Given the description of an element on the screen output the (x, y) to click on. 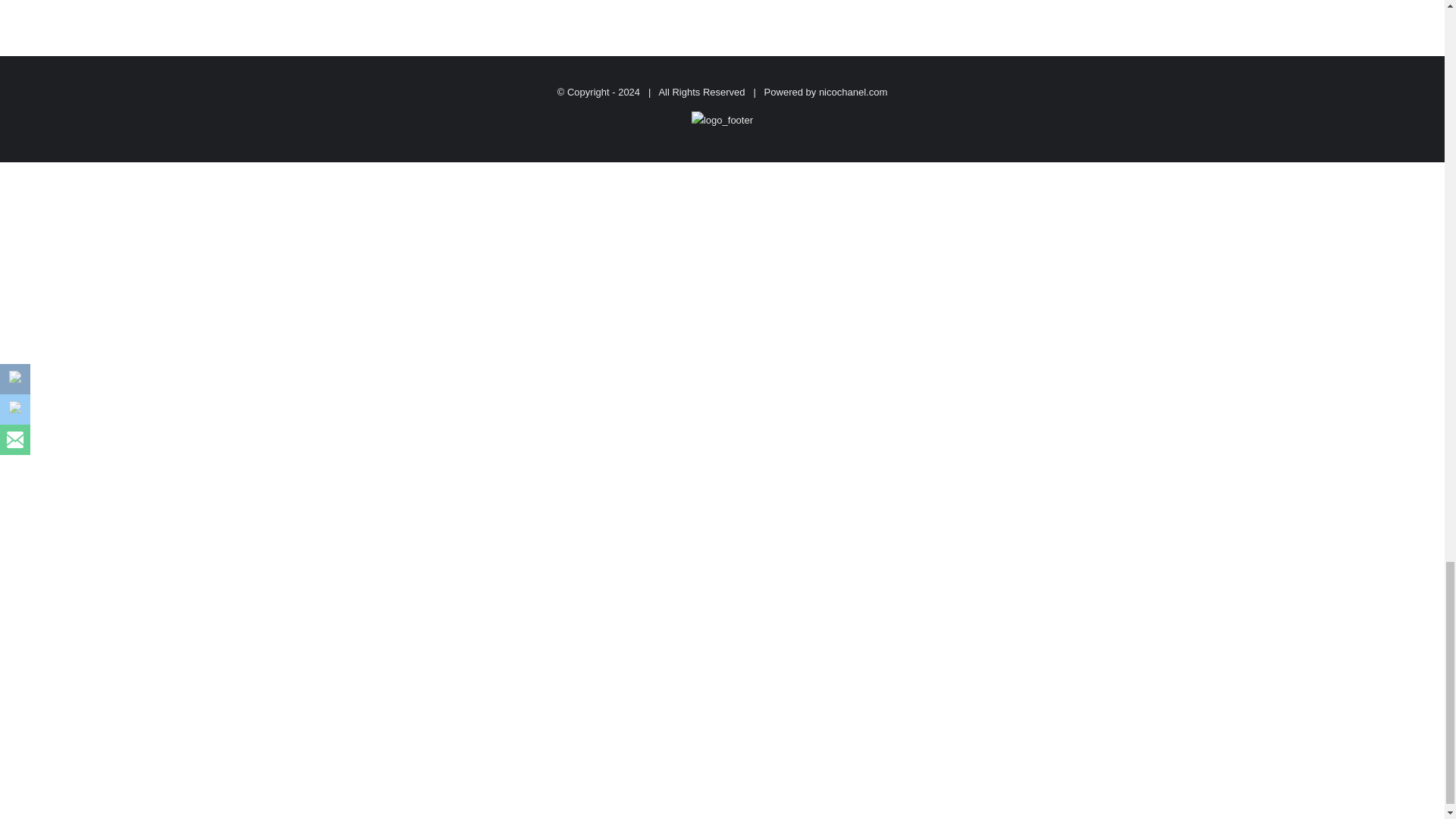
nicochanel.com (852, 91)
